Given the description of an element on the screen output the (x, y) to click on. 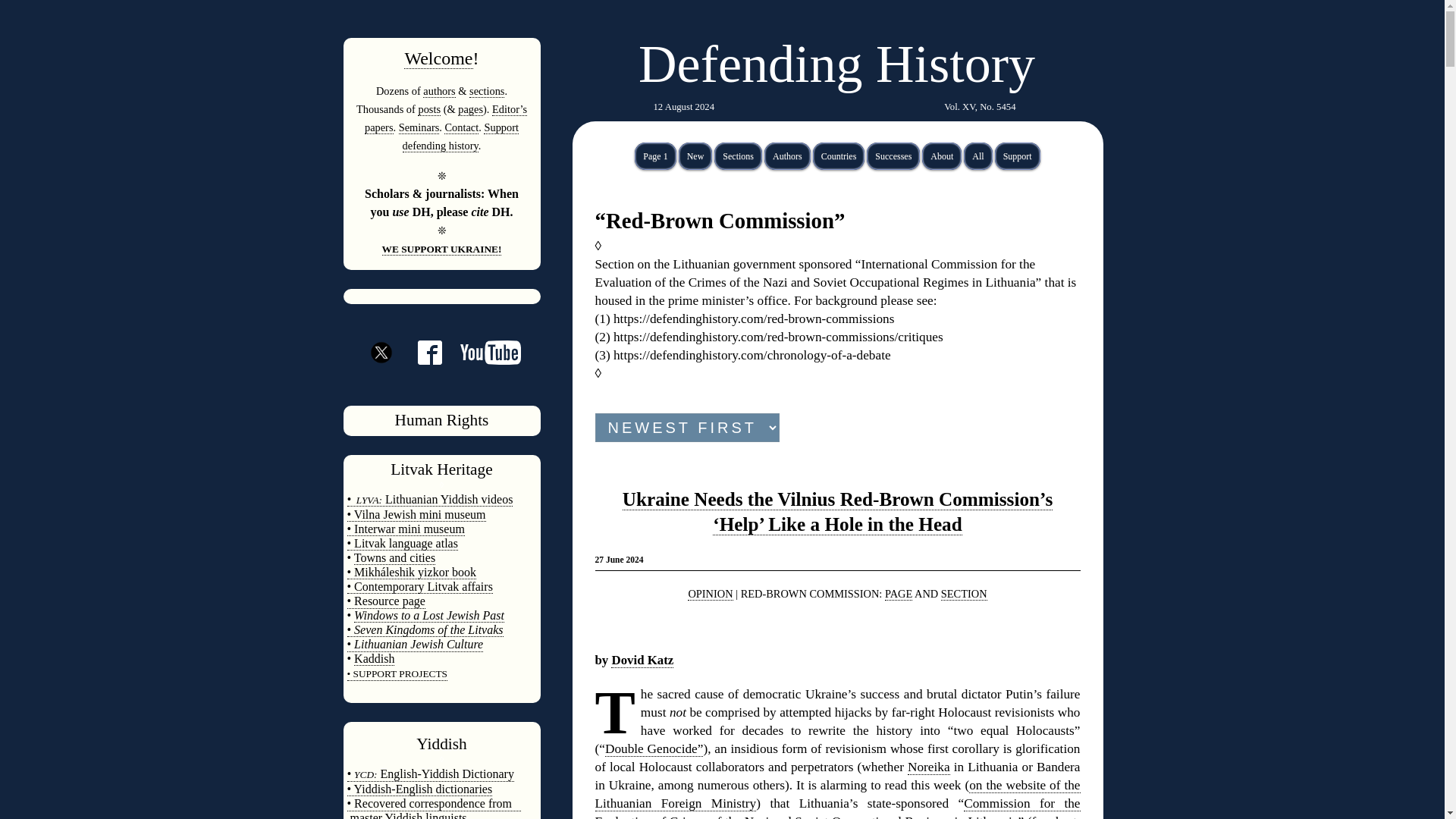
Towns and cities (394, 558)
Support defending history (460, 136)
Contact (461, 127)
sections (485, 91)
Follow us on Facebook (419, 358)
Follow us on Twitter (380, 379)
Seminars (418, 127)
posts (429, 109)
Welcome (437, 58)
Human Rights (441, 420)
